Given the description of an element on the screen output the (x, y) to click on. 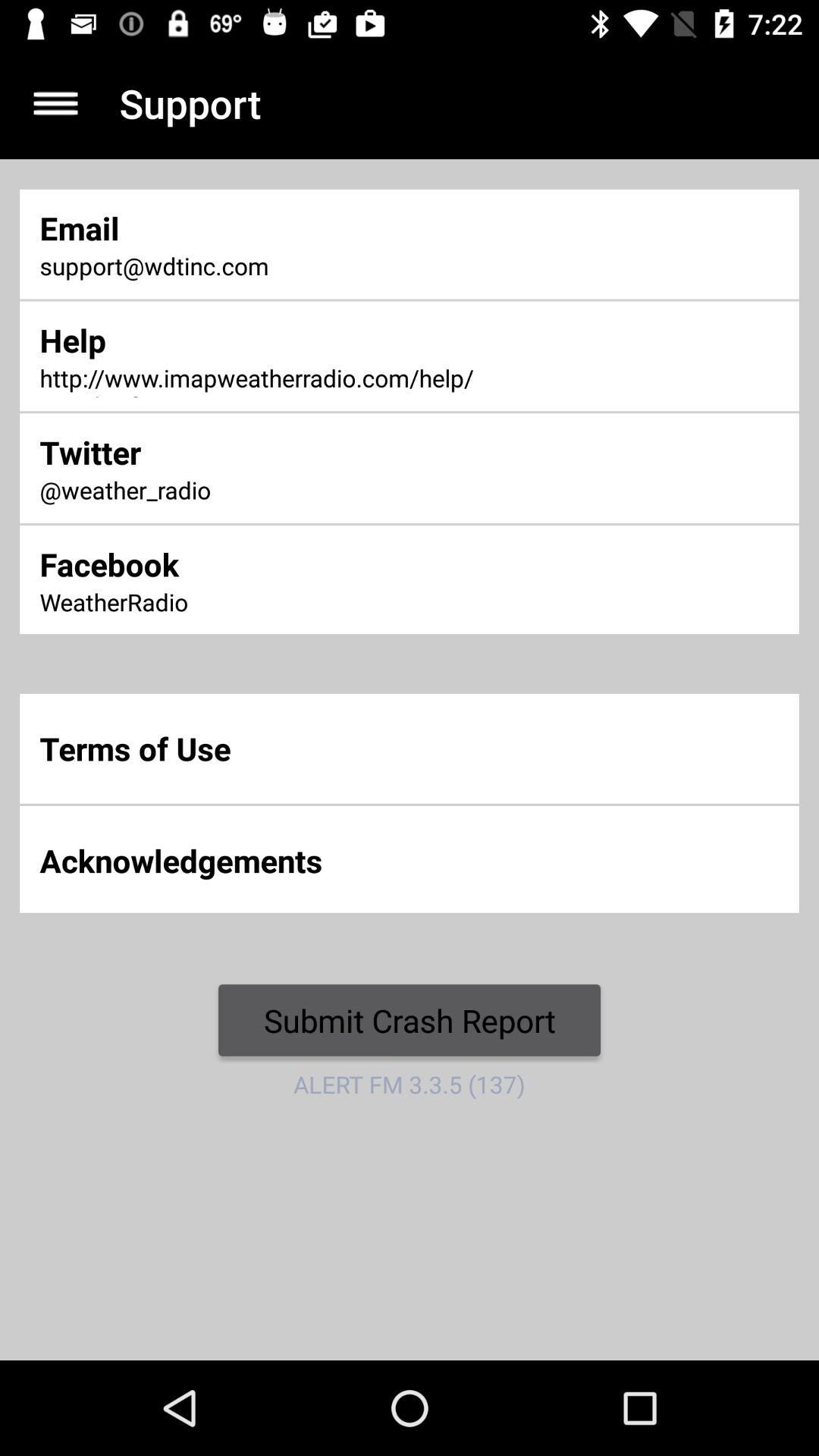
launch the item above email icon (55, 103)
